Given the description of an element on the screen output the (x, y) to click on. 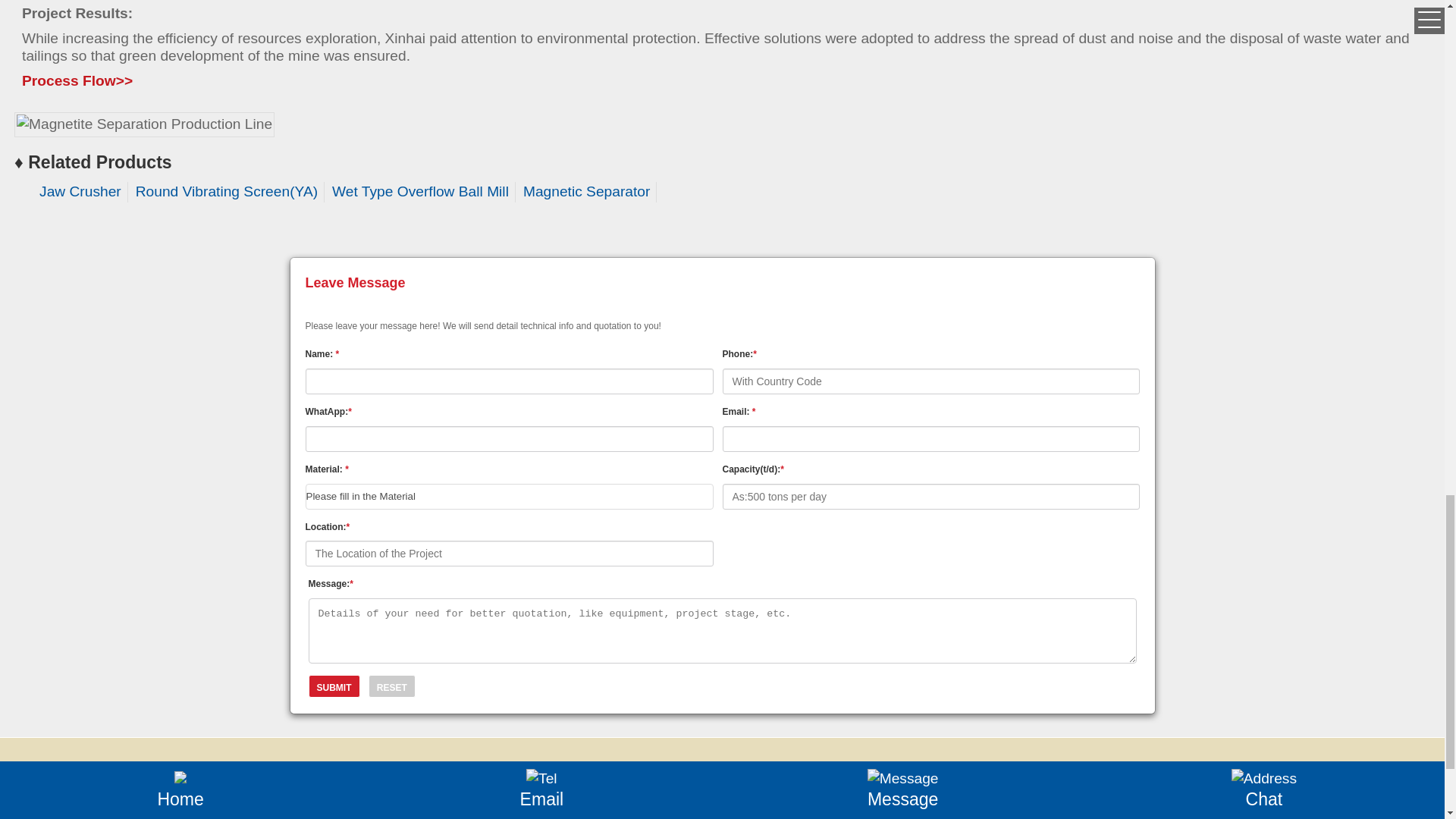
Reset (391, 685)
Wet Type Overflow Ball Mill (419, 191)
Submit (333, 685)
Submit (333, 685)
Jaw Crusher (79, 191)
Magnetic Separator (585, 191)
